Given the description of an element on the screen output the (x, y) to click on. 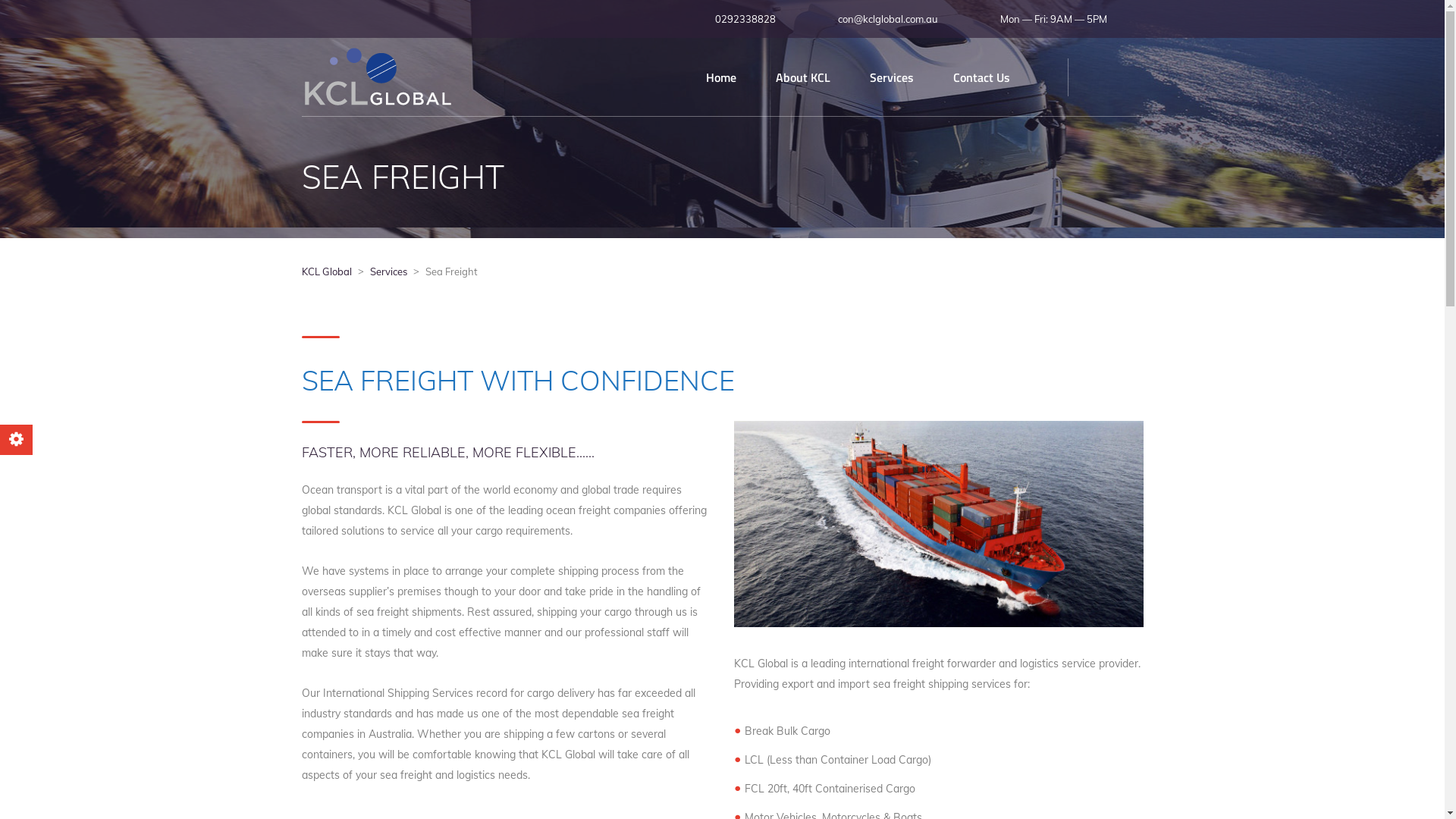
Home Element type: text (720, 76)
Services Element type: text (891, 76)
Contact Us Element type: text (980, 76)
KCL Global Element type: text (326, 271)
About KCL Element type: text (802, 76)
slider_3.jpg Element type: hover (938, 523)
Services Element type: text (388, 271)
con@kclglobal.com.au Element type: text (884, 18)
